Given the description of an element on the screen output the (x, y) to click on. 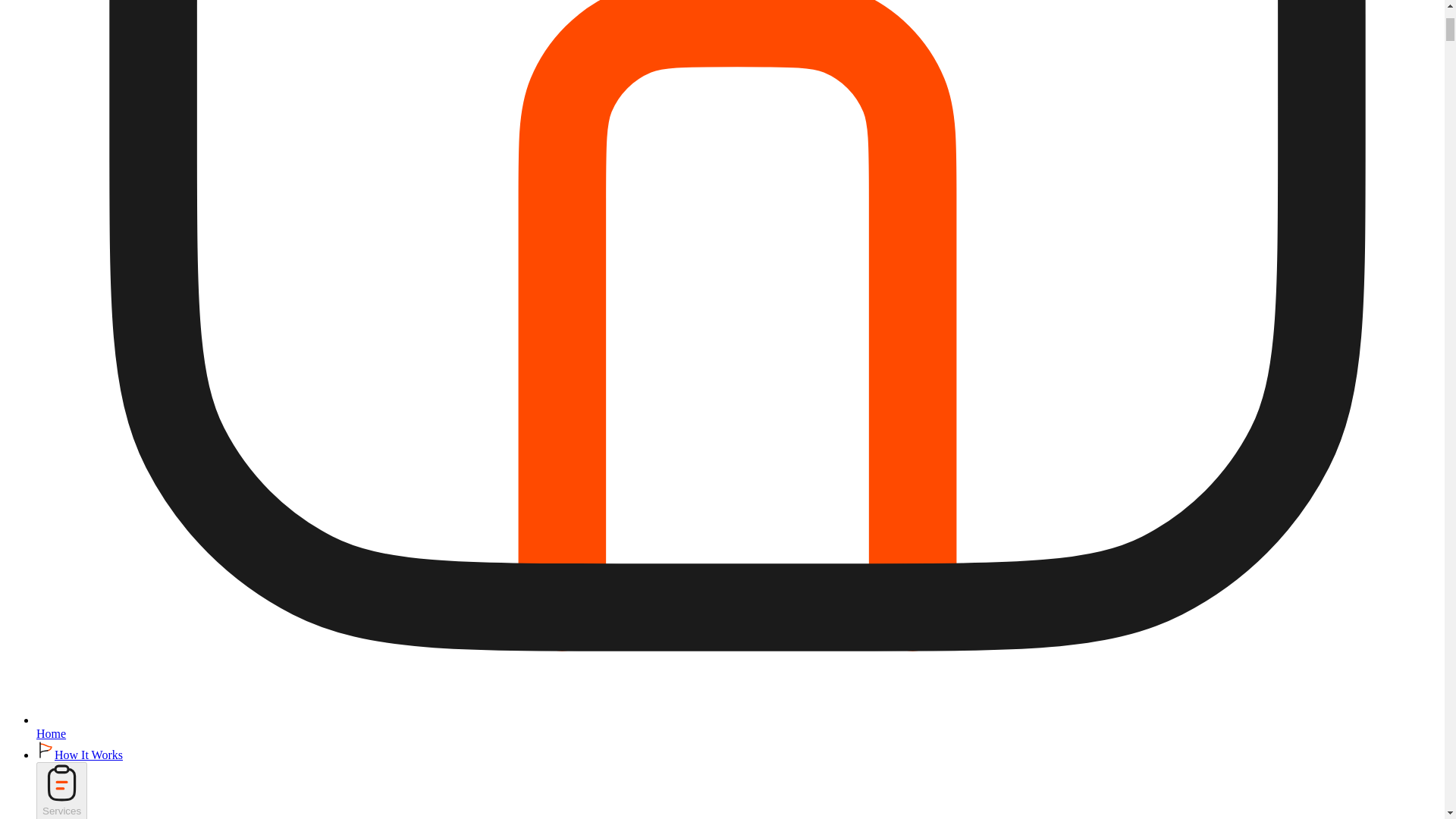
Services (61, 790)
